Given the description of an element on the screen output the (x, y) to click on. 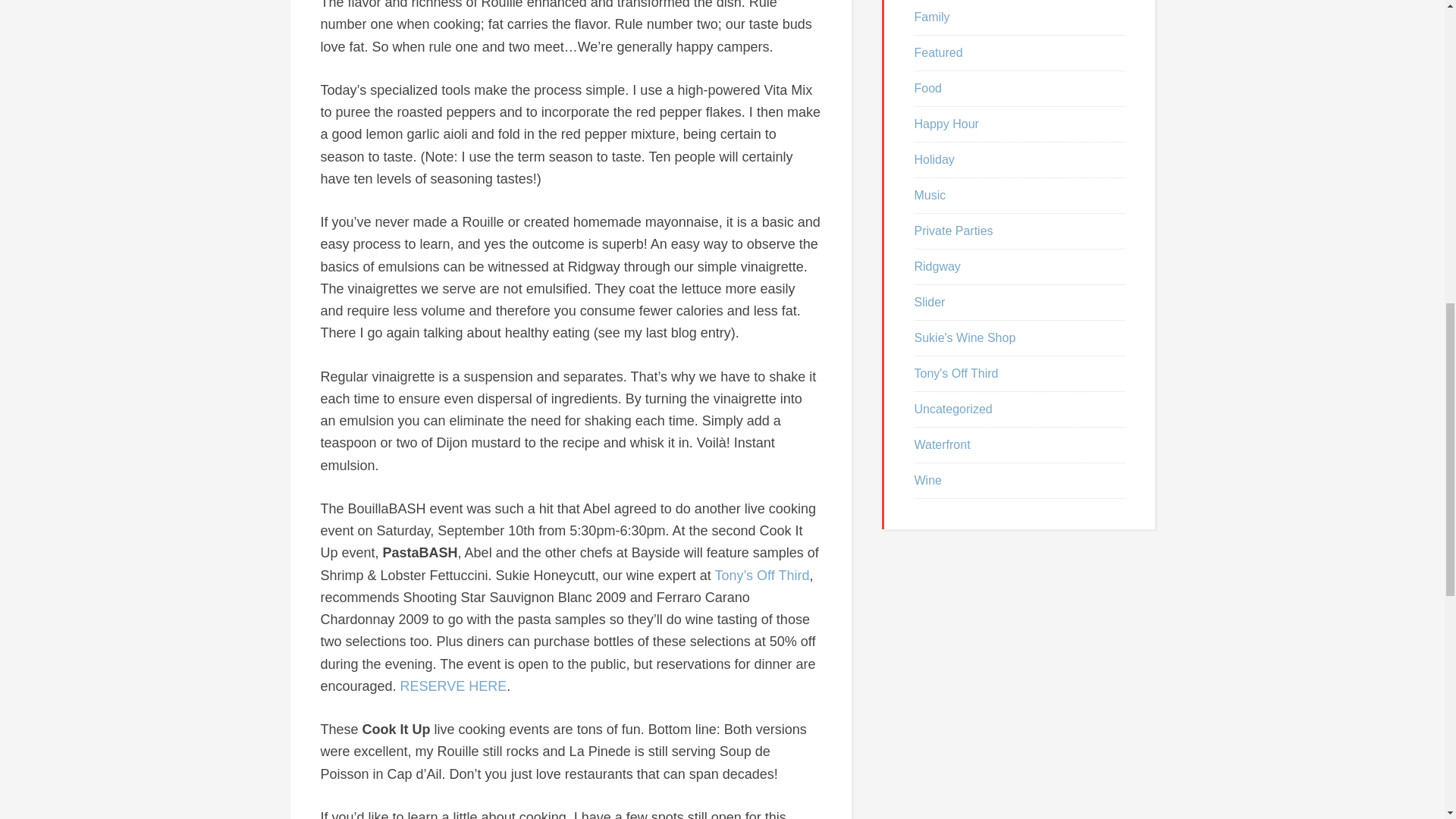
Uncategorized (953, 408)
Slider (929, 301)
Holiday (934, 159)
Music (930, 195)
Happy Hour (946, 123)
RESERVE HERE (453, 685)
Sukie's Wine Shop (965, 337)
Tony's Off Third (956, 373)
Featured (938, 51)
Waterfront (942, 444)
Ridgway (937, 266)
Food (928, 88)
Family (932, 16)
Wine (928, 480)
Private Parties (953, 230)
